Given the description of an element on the screen output the (x, y) to click on. 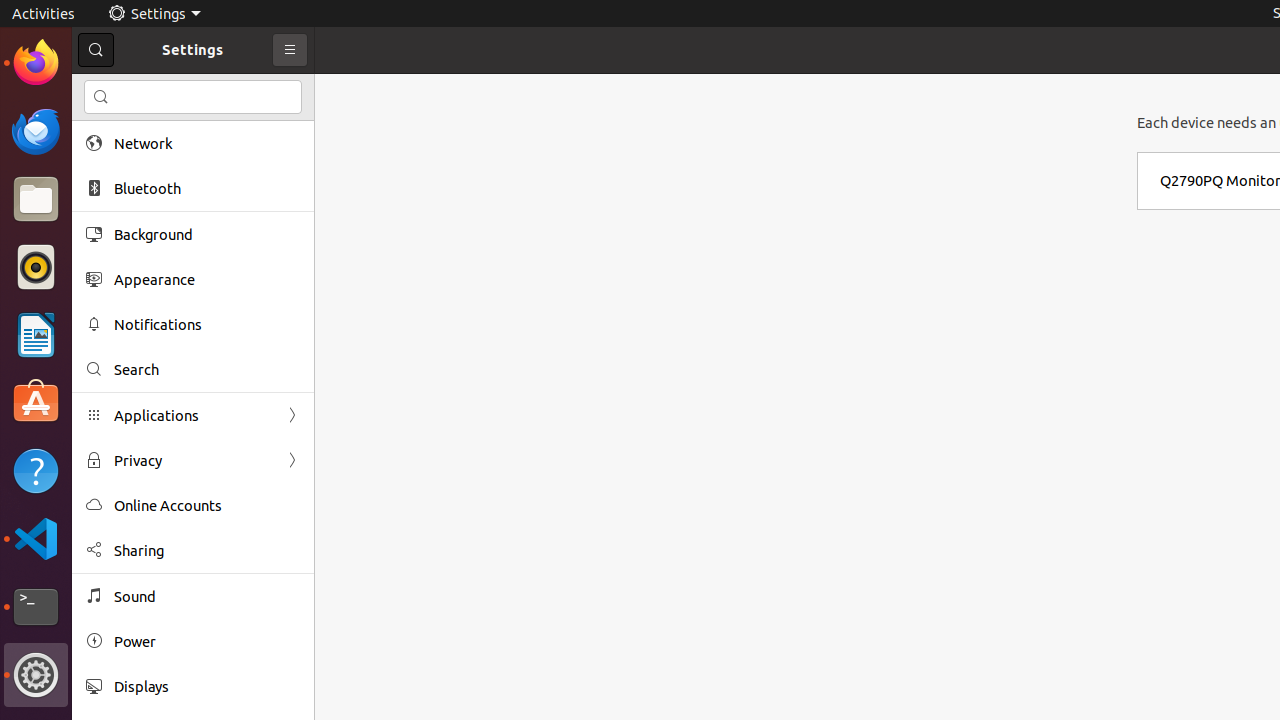
Sharing Element type: label (207, 550)
edit-find-symbolic Element type: icon (101, 97)
li.txt Element type: label (259, 89)
Bluetooth Element type: label (207, 188)
